Given the description of an element on the screen output the (x, y) to click on. 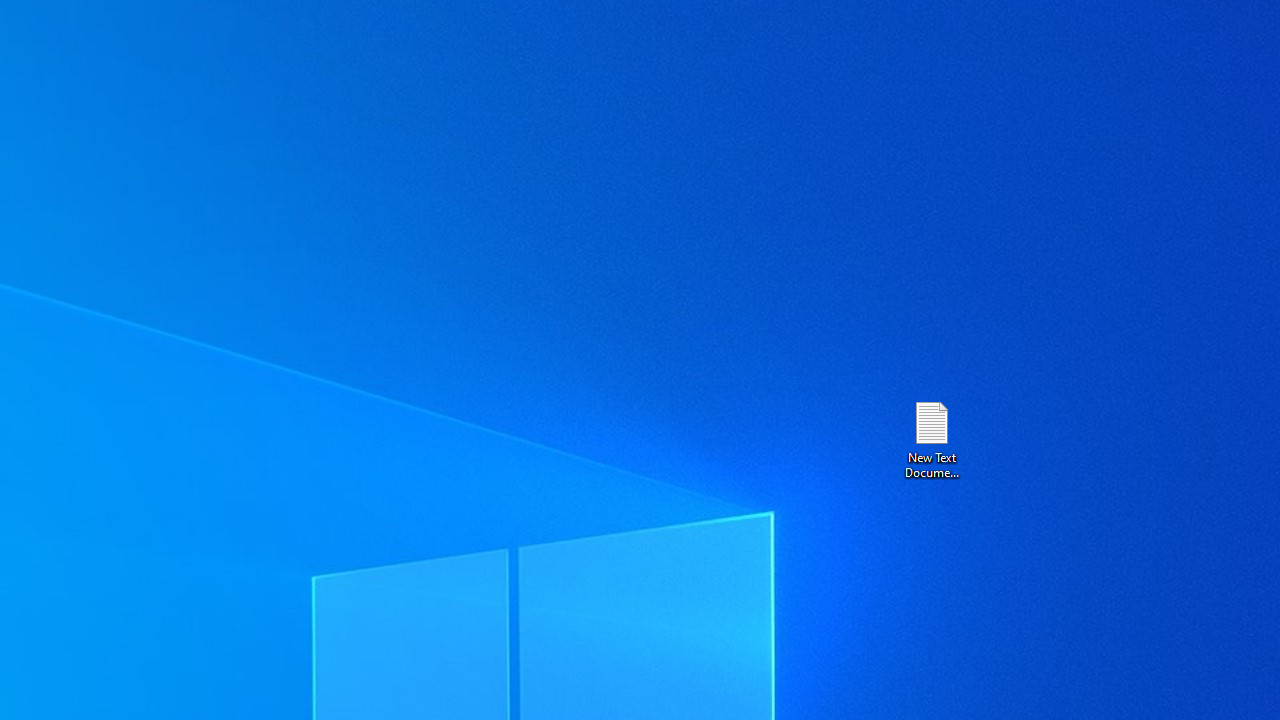
New Text Document (2) (931, 438)
